Given the description of an element on the screen output the (x, y) to click on. 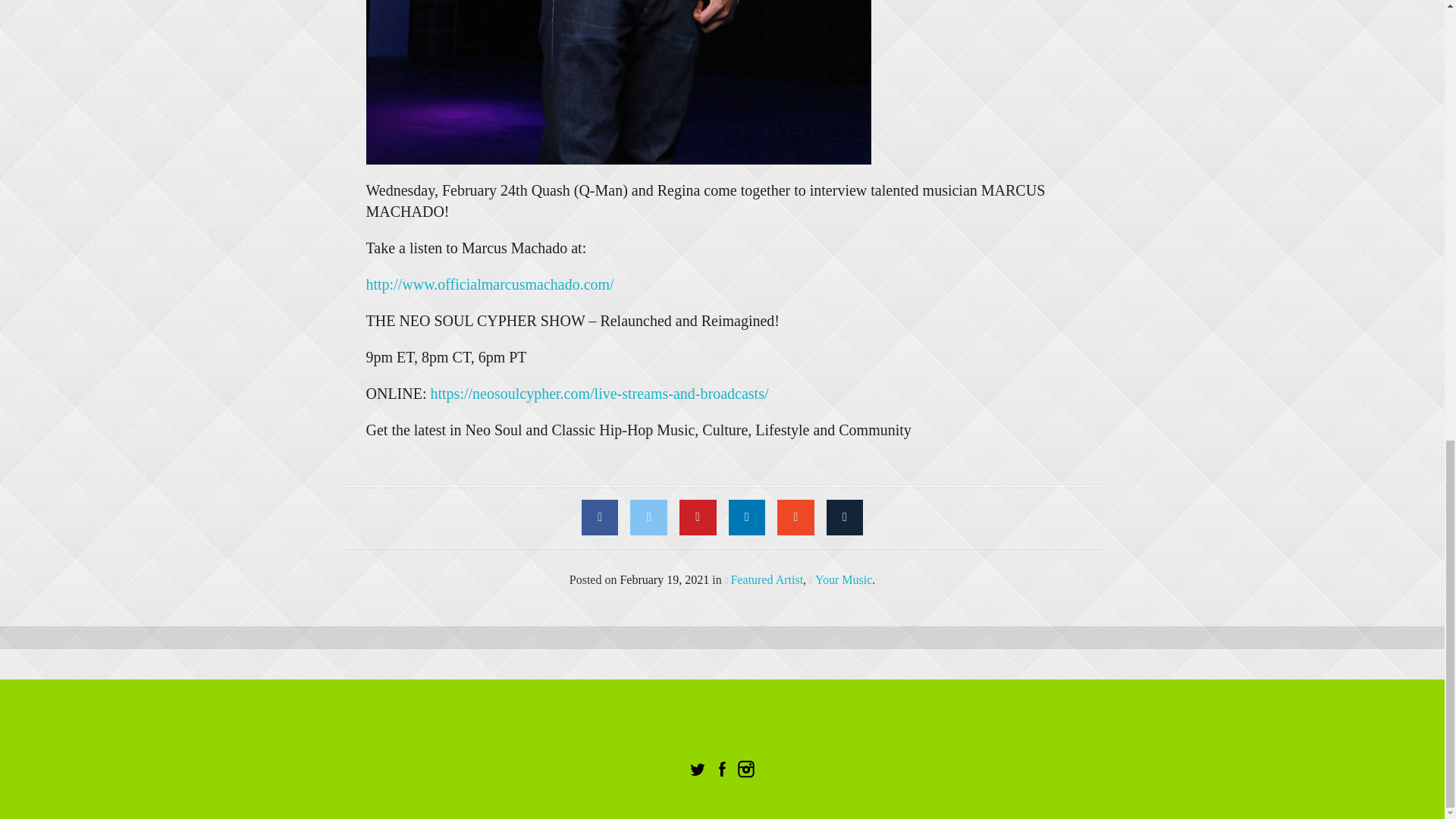
Pinterest (697, 517)
Print (845, 517)
Facebook (721, 769)
1:15 pm (664, 579)
Instagram (745, 769)
Your Music (840, 579)
Facebook (599, 517)
Twitter (648, 517)
February 19, 2021 (664, 579)
Mail (795, 517)
Linkedin (746, 517)
Featured Artist (764, 579)
Twitter (696, 769)
